Given the description of an element on the screen output the (x, y) to click on. 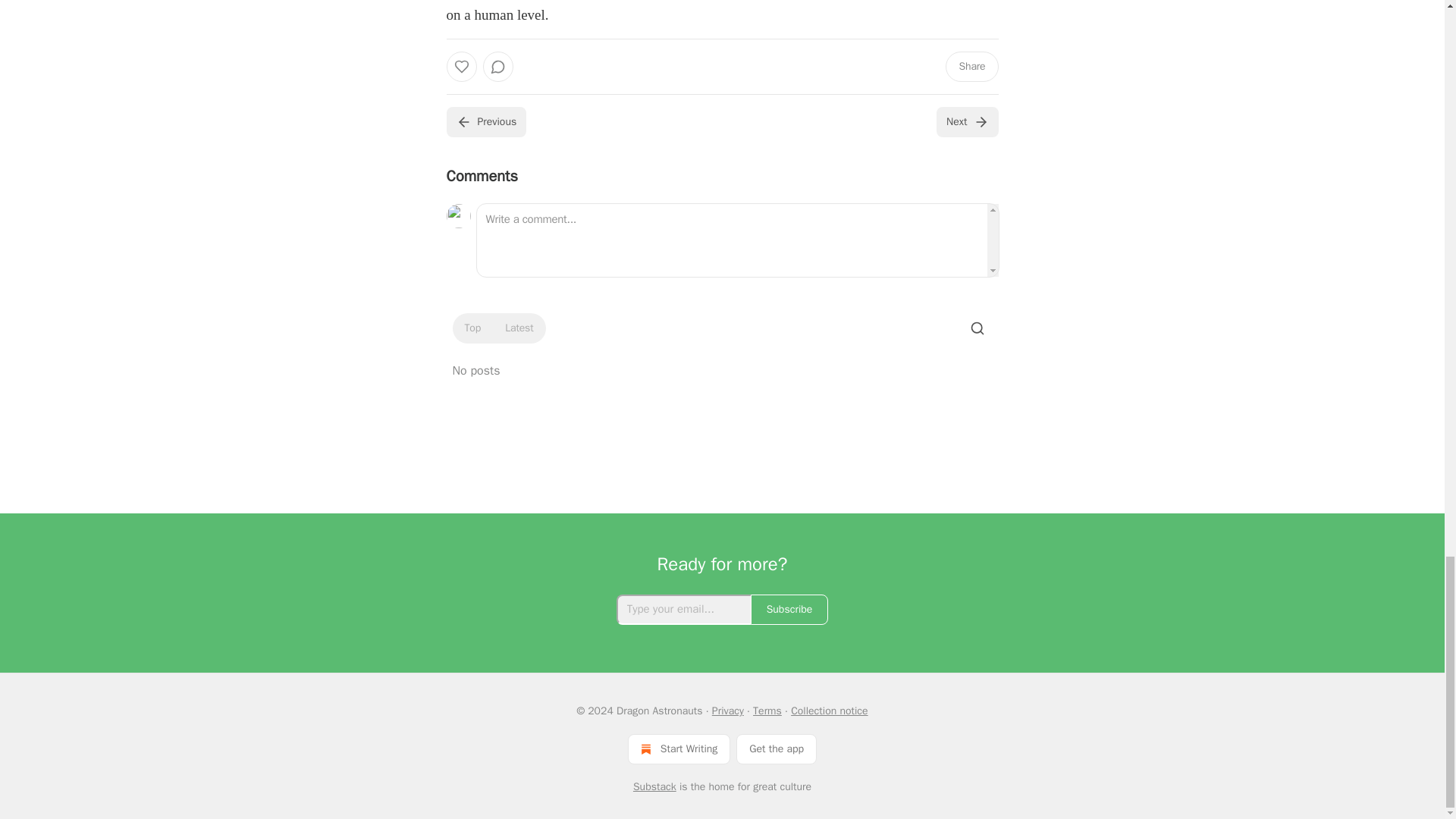
Share (970, 66)
Next (966, 122)
Top (471, 328)
Previous (485, 122)
